Given the description of an element on the screen output the (x, y) to click on. 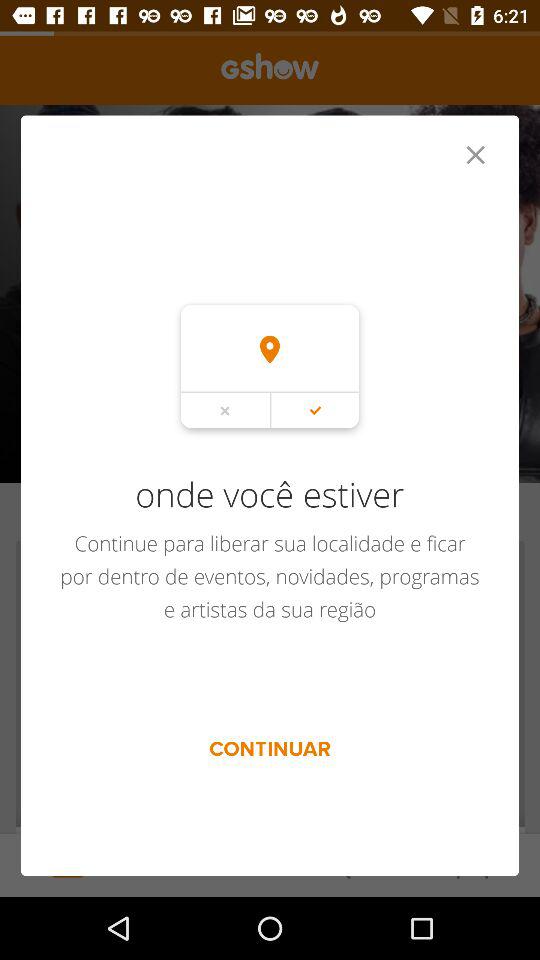
press the continuar (269, 748)
